Given the description of an element on the screen output the (x, y) to click on. 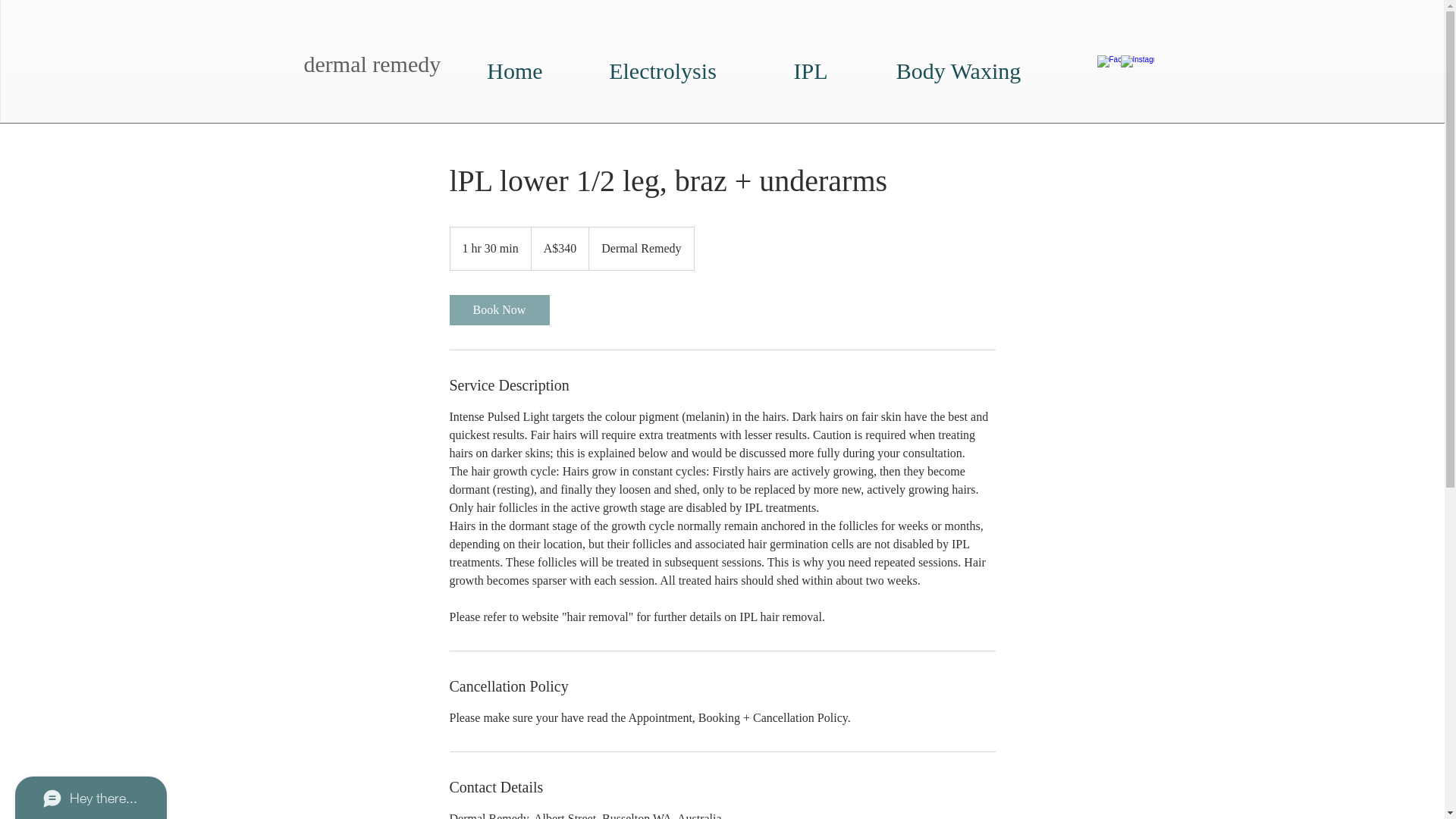
Book Now Element type: text (498, 309)
dermal remedy Element type: text (371, 63)
IPL Element type: text (810, 65)
Body Waxing Element type: text (958, 65)
Electrolysis Element type: text (662, 65)
Home Element type: text (515, 65)
